Given the description of an element on the screen output the (x, y) to click on. 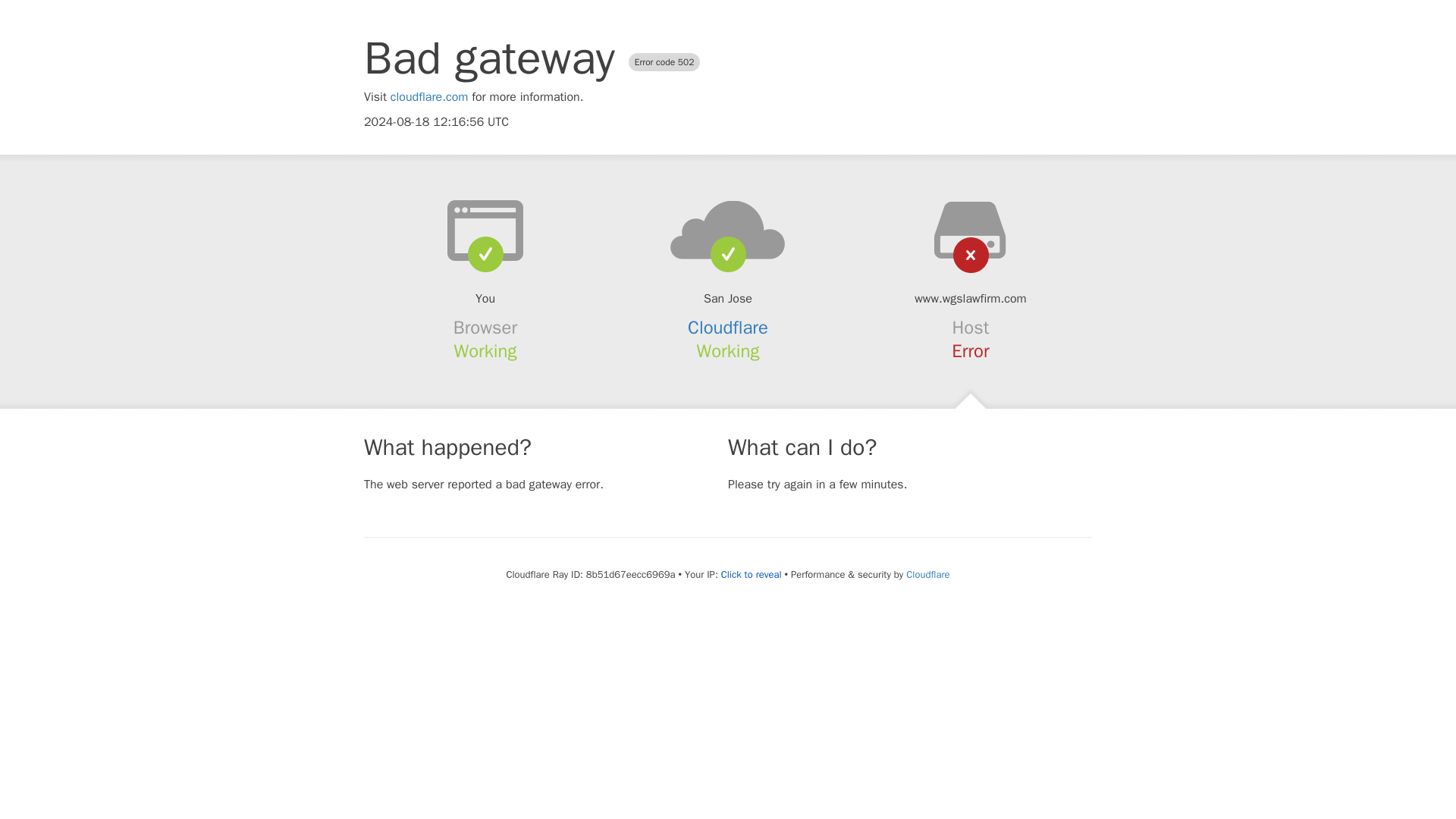
Cloudflare (727, 327)
Cloudflare (927, 574)
Click to reveal (750, 574)
cloudflare.com (429, 96)
